Given the description of an element on the screen output the (x, y) to click on. 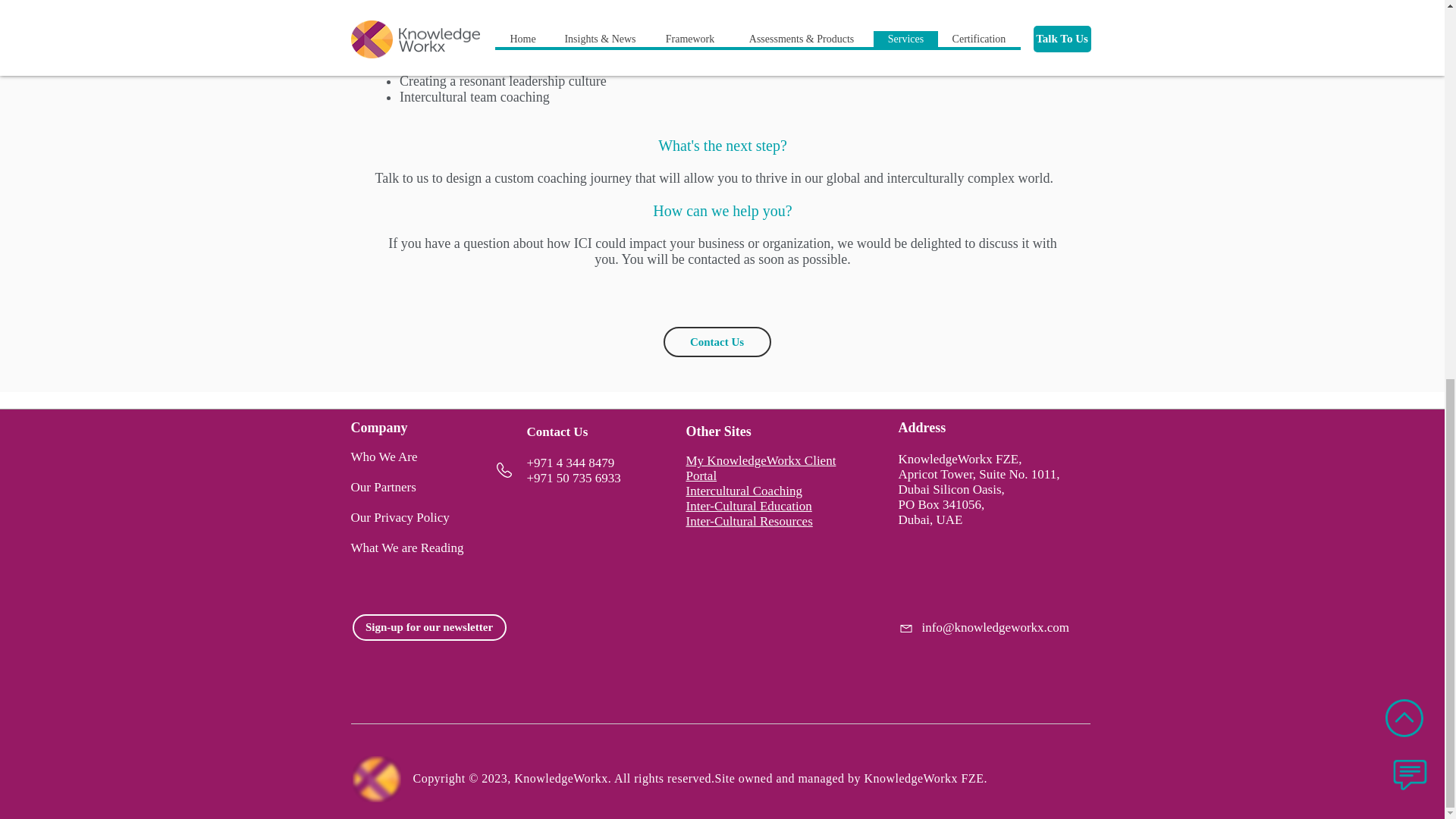
Contact Us (716, 341)
